Given the description of an element on the screen output the (x, y) to click on. 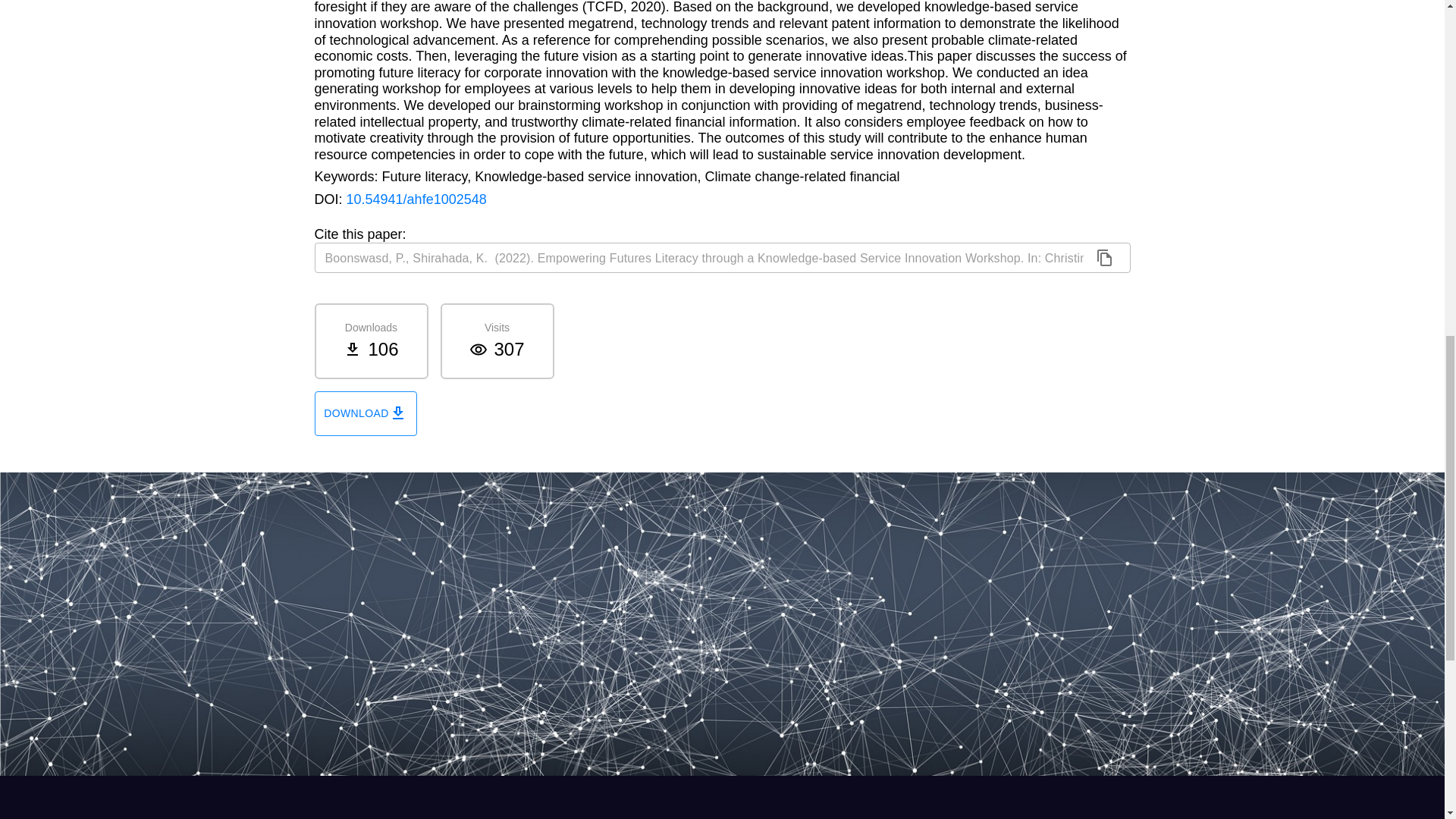
DOWNLOAD (365, 413)
